Given the description of an element on the screen output the (x, y) to click on. 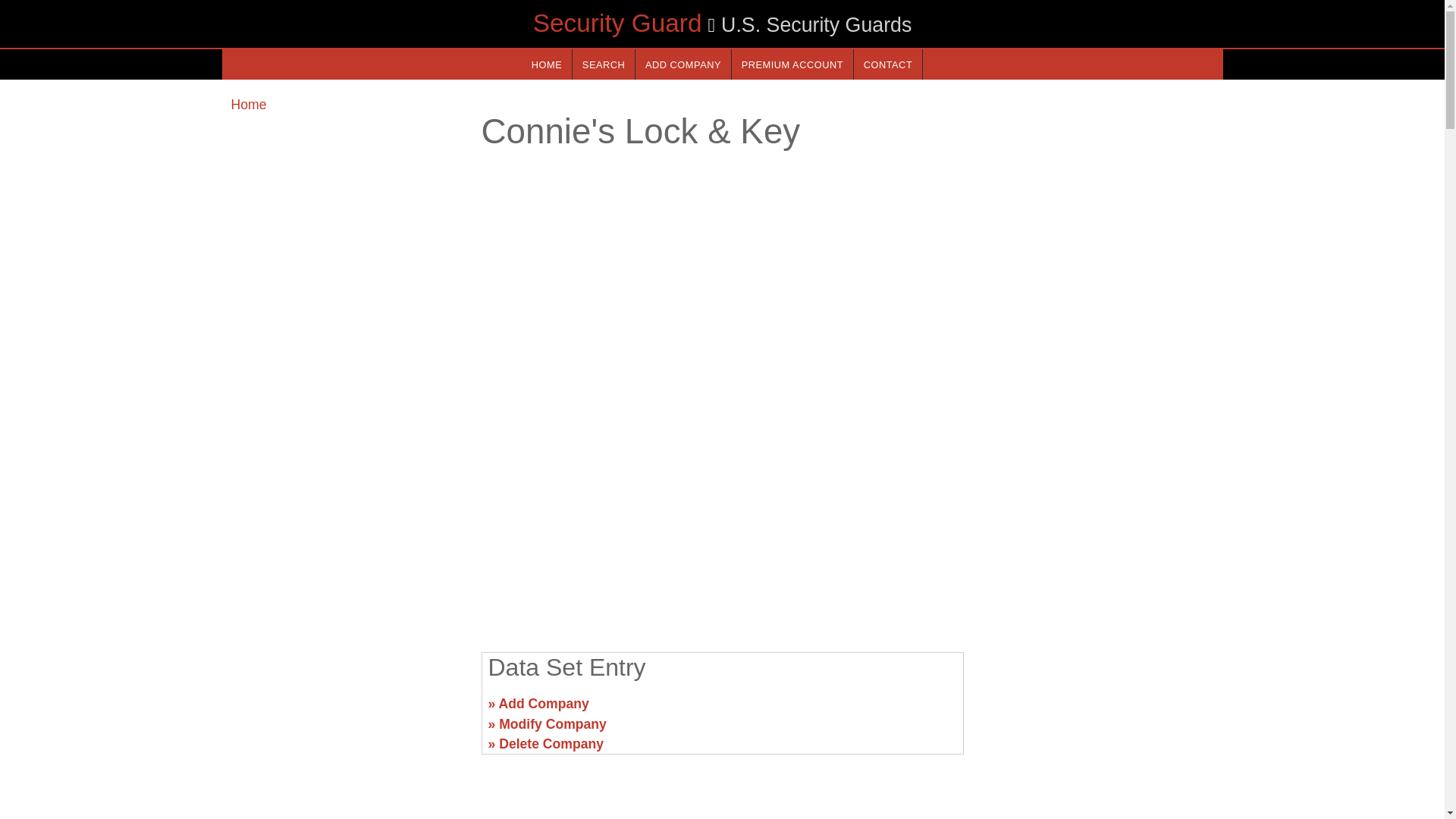
Advertisement (346, 710)
Search in this webseite. (603, 64)
SEARCH (603, 64)
Advertisement (721, 522)
PREMIUM ACCOUNT (792, 64)
Premium account (792, 64)
HOME (546, 64)
Advertisement (1096, 710)
ADD COMPANY (682, 64)
